Given the description of an element on the screen output the (x, y) to click on. 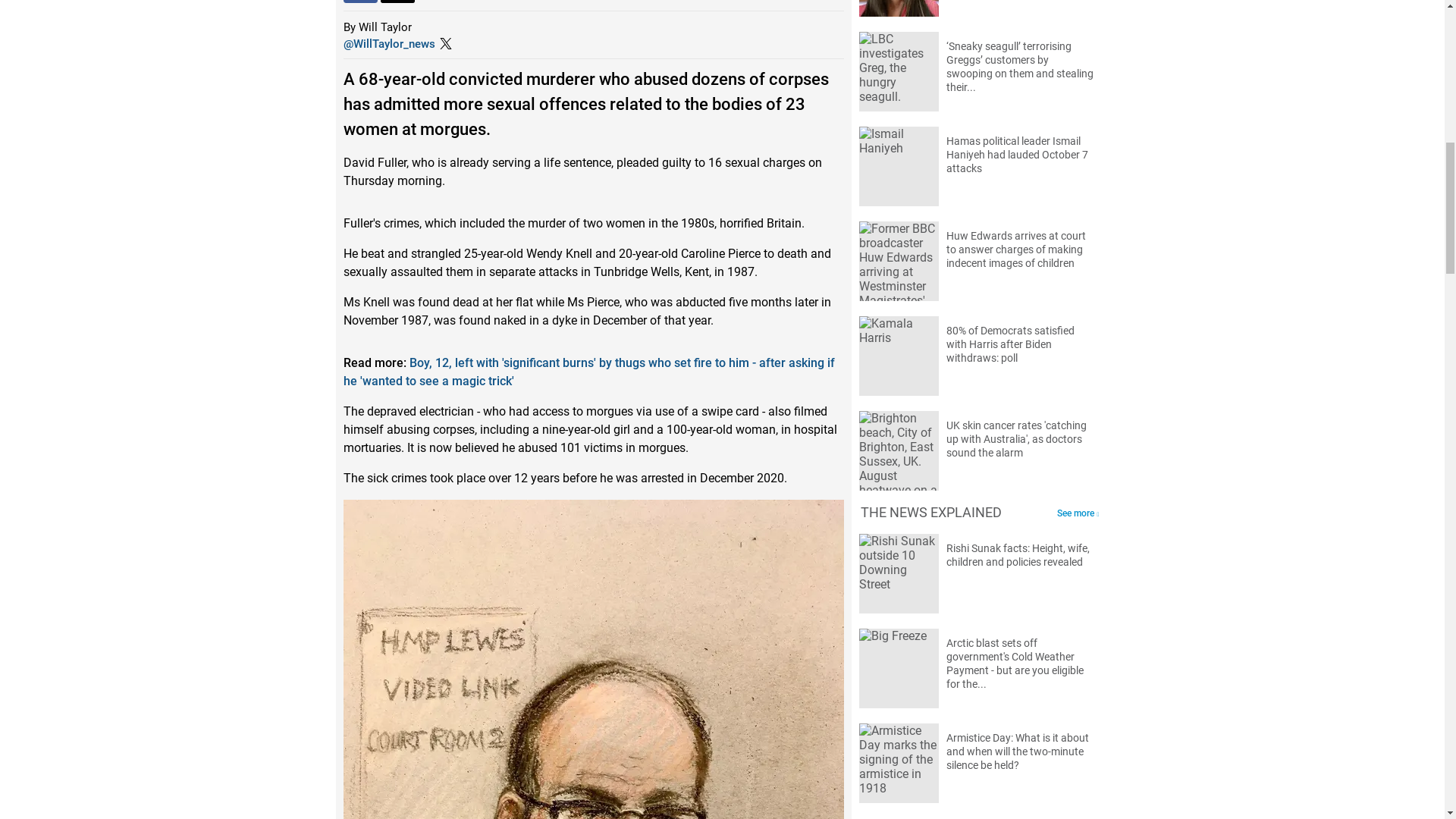
Follow Will Taylor on X (387, 43)
